Given the description of an element on the screen output the (x, y) to click on. 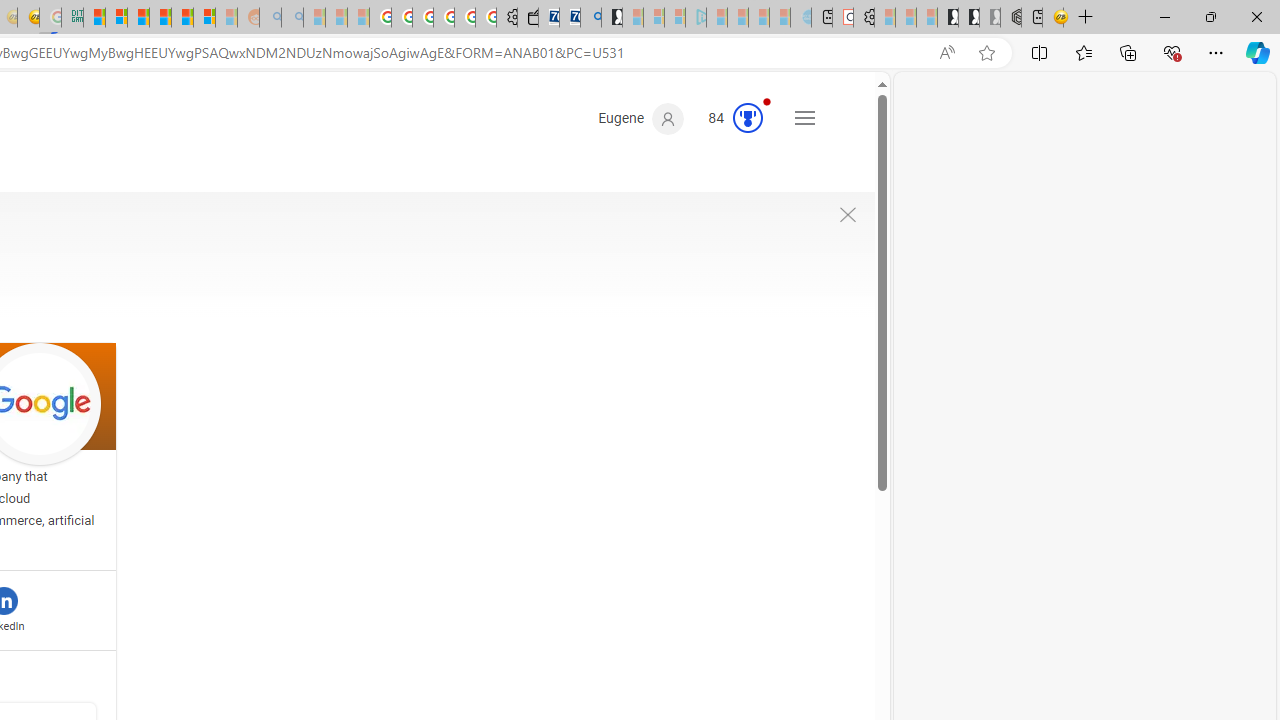
Eugene (640, 119)
Animation (766, 101)
Kinda Frugal - MSN (182, 17)
